Given the description of an element on the screen output the (x, y) to click on. 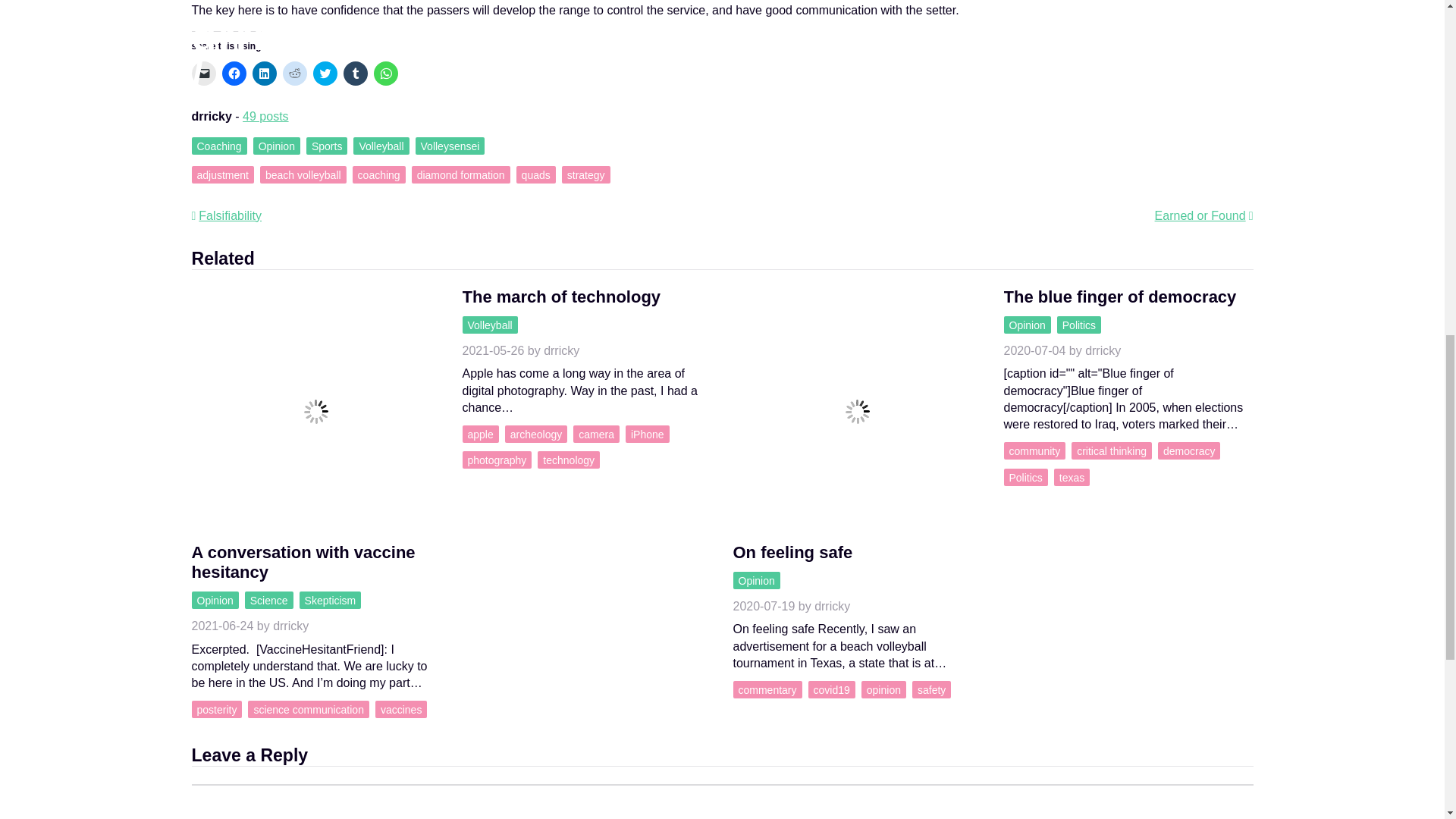
Click to share on Tumblr (354, 73)
49 posts (265, 115)
coaching (379, 174)
Volleyball (381, 145)
Earned or Found (1203, 215)
Click to share on WhatsApp (384, 73)
beach volleyball (303, 174)
Opinion (276, 145)
Click to share on Twitter (324, 73)
Volleysensei (449, 145)
